Given the description of an element on the screen output the (x, y) to click on. 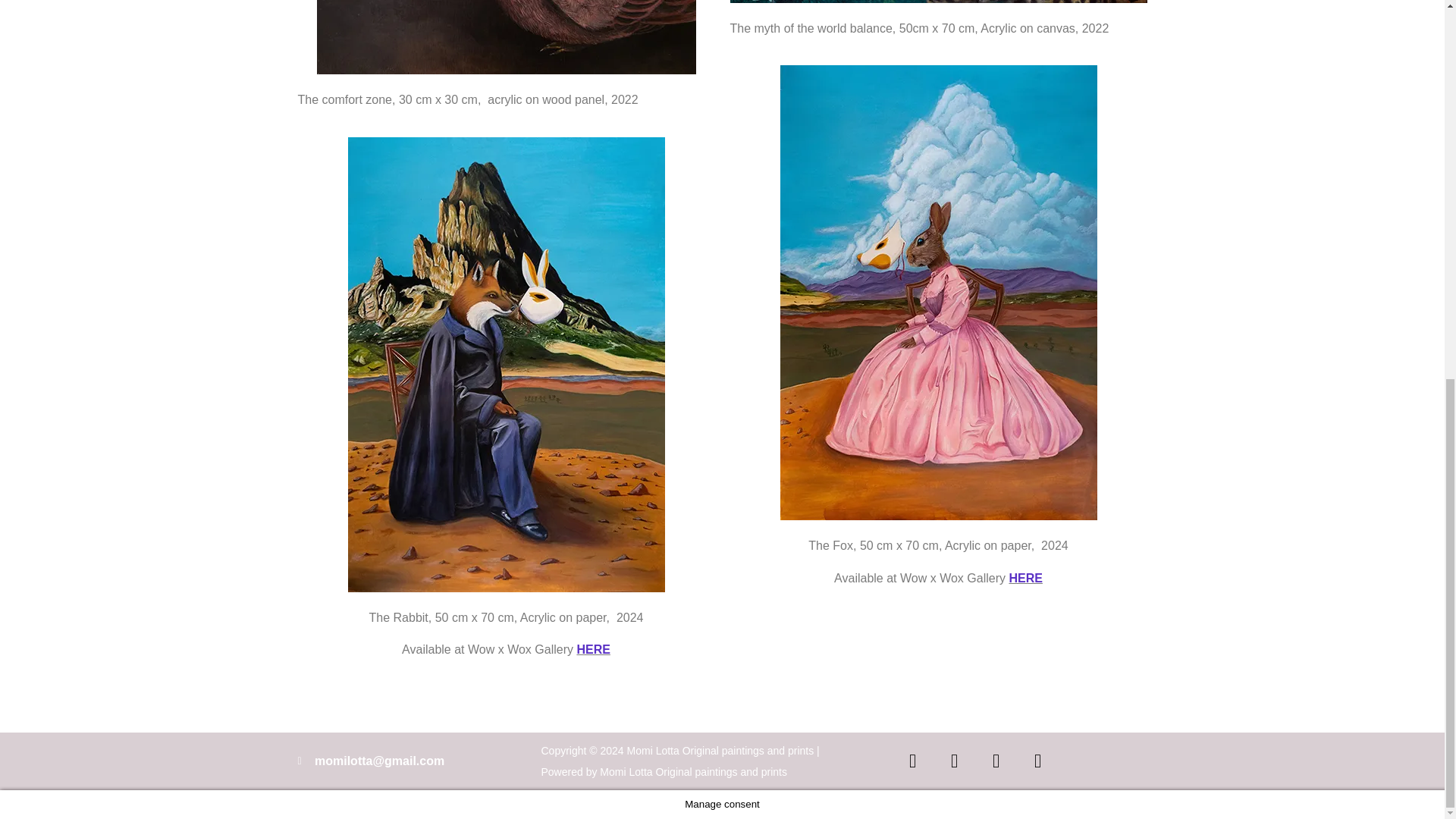
HERE (593, 649)
HERE (1025, 577)
